Given the description of an element on the screen output the (x, y) to click on. 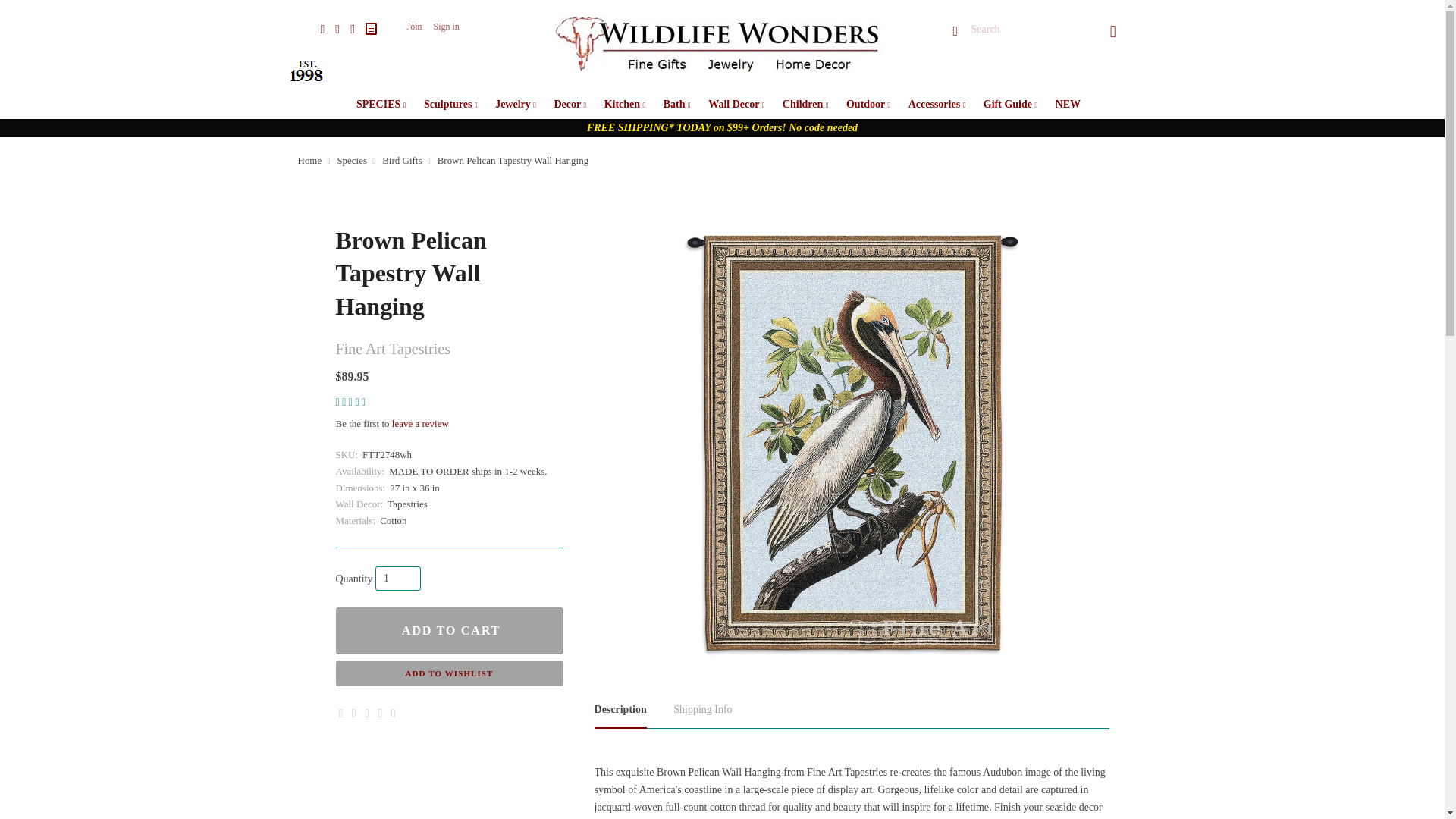
View cart (1113, 30)
Sign in (445, 27)
View cart (1113, 30)
Add to Wishlist (448, 673)
SPECIES (381, 103)
Join (413, 27)
Blog (371, 29)
1 (397, 578)
